Given the description of an element on the screen output the (x, y) to click on. 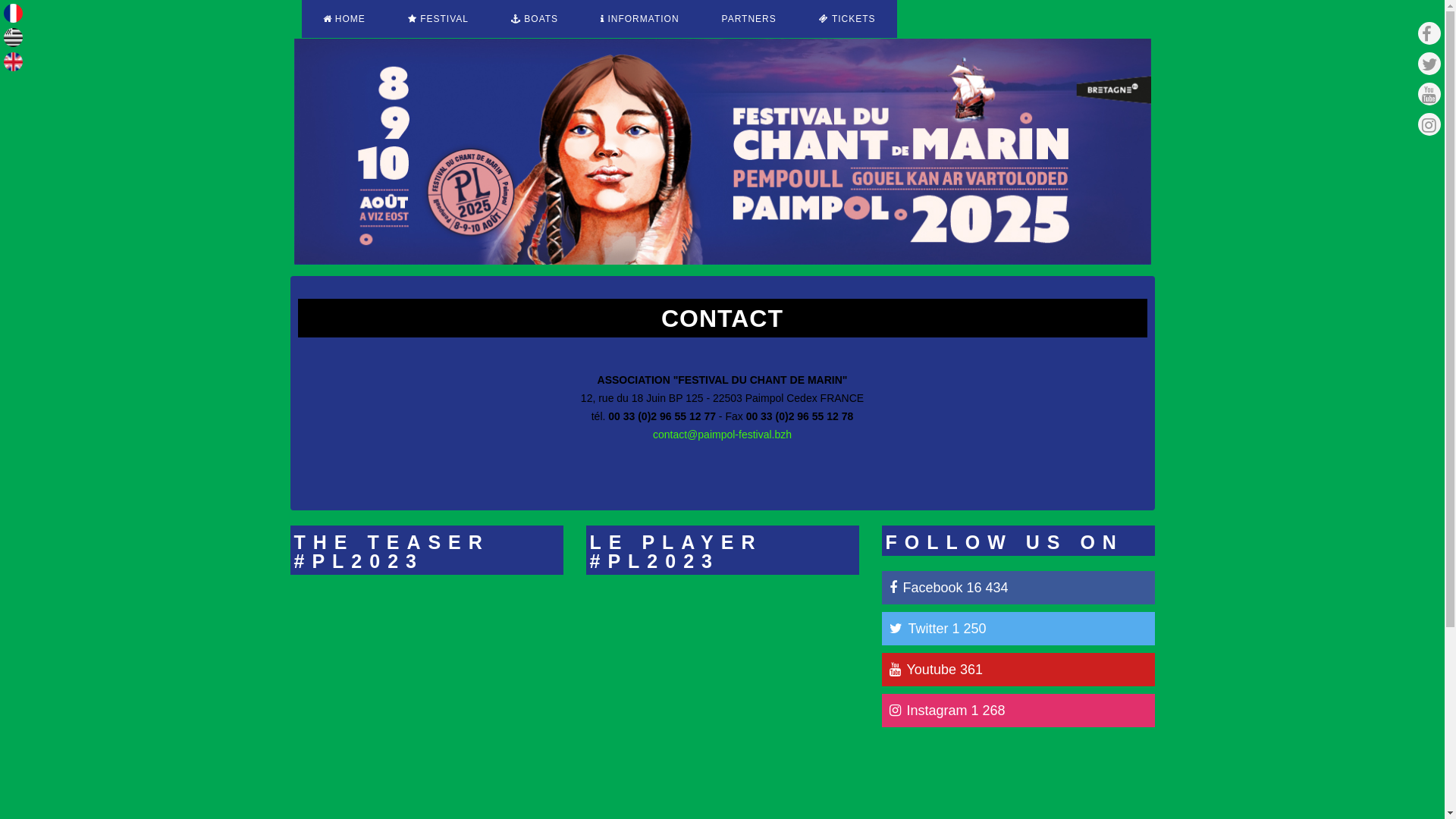
Instagram 1 268 Element type: text (1017, 710)
TICKETS Element type: text (847, 18)
Twitter 1 250 Element type: text (1017, 628)
Breizhoneg (EMBERR) Element type: hover (12, 37)
FESTIVAL Element type: text (437, 18)
HOME Element type: text (343, 18)
contact@paimpol-festival.bzh Element type: text (721, 434)
INFORMATION Element type: text (639, 18)
Youtube 361 Element type: text (1017, 669)
PARTNERS Element type: text (748, 18)
Facebook 16 434 Element type: text (1017, 587)
English (UK) Element type: hover (12, 61)
BOATS Element type: text (534, 18)
